Given the description of an element on the screen output the (x, y) to click on. 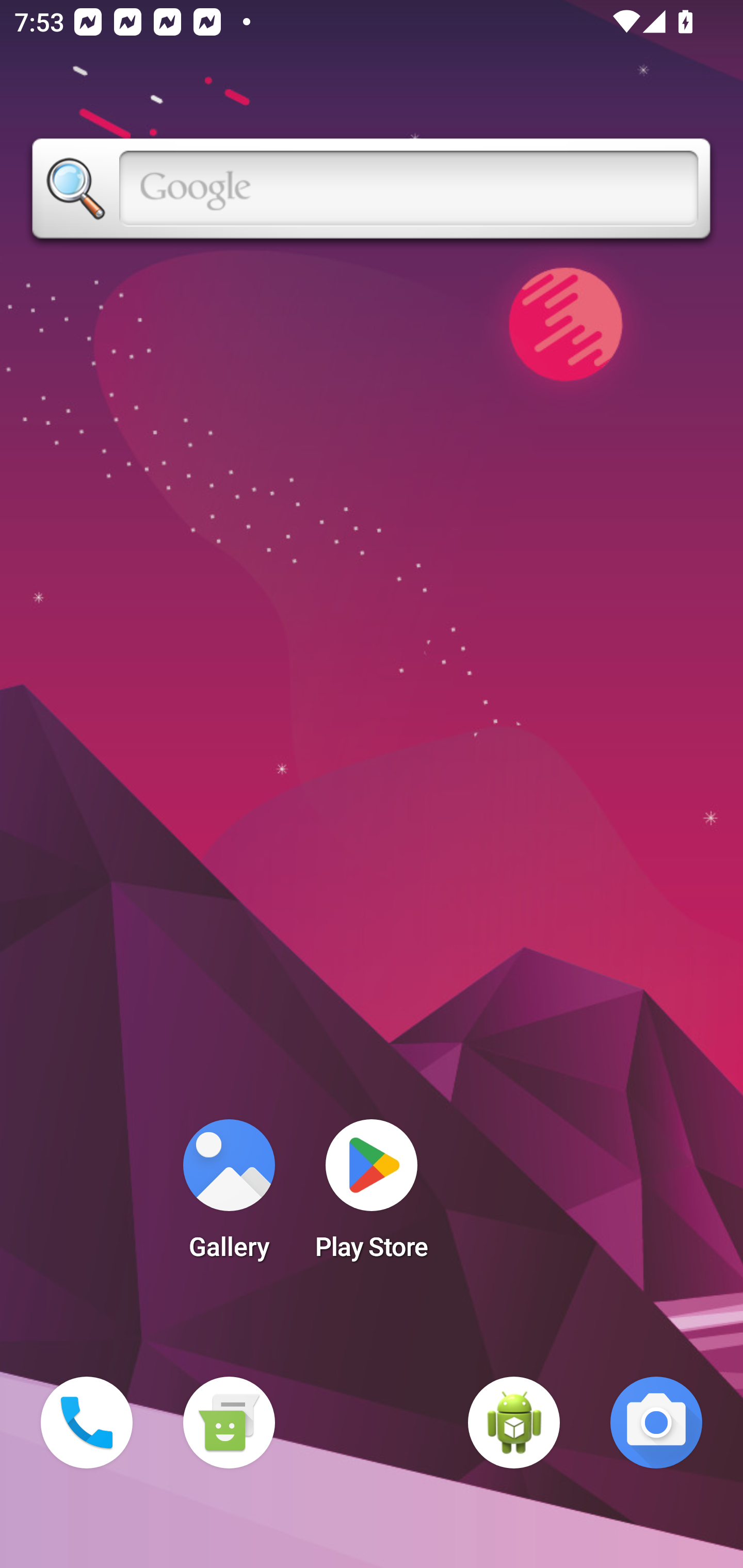
Gallery (228, 1195)
Play Store (371, 1195)
Phone (86, 1422)
Messaging (228, 1422)
WebView Browser Tester (513, 1422)
Camera (656, 1422)
